Given the description of an element on the screen output the (x, y) to click on. 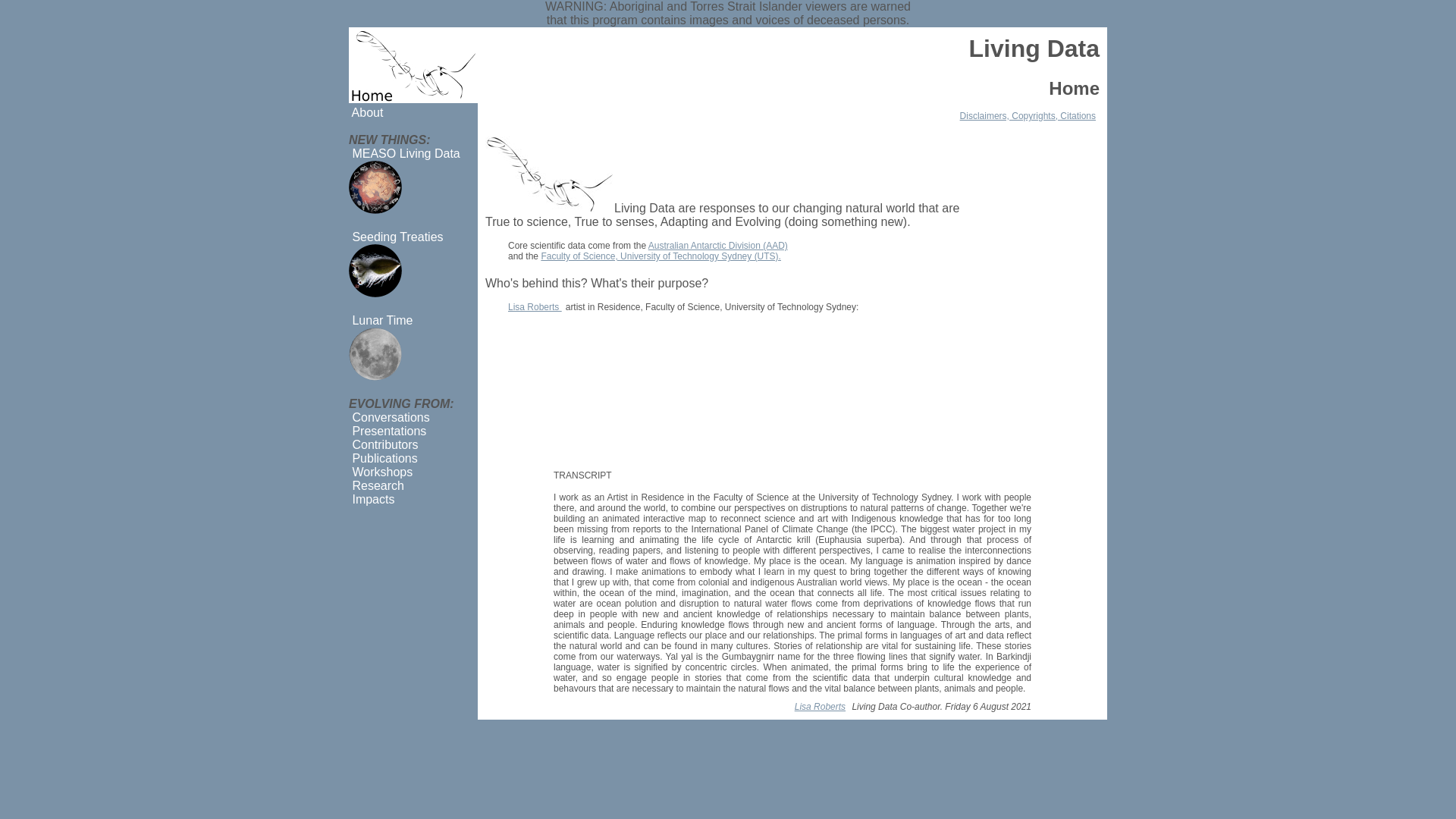
Seeding Treaties Element type: hover (374, 270)
 Seeding Treaties Element type: text (395, 236)
Faculty of Science, University of Technology Sydney (UTS). Element type: text (662, 256)
 MEASO Living Data Element type: text (404, 153)
 Conversations Element type: text (388, 417)
Lunar Time Element type: hover (374, 353)
Home Element type: hover (412, 65)
 Impacts Element type: text (371, 498)
 Contributors Element type: text (383, 444)
 Research Element type: text (376, 485)
 Presentations Element type: text (387, 430)
Disclaimers, Copyrights, Citations Element type: text (1029, 115)
MEASO Living Data Element type: hover (374, 186)
 About Element type: text (365, 112)
Lisa Roberts Element type: text (536, 306)
Lisa Roberts Element type: text (821, 706)
  Element type: text (374, 216)
 Lunar Time Element type: text (380, 319)
 Workshops Element type: text (380, 471)
Euphausia superba (Antarctic krill) Element type: hover (549, 174)
Australian Antarctic Division (AAD) Element type: text (719, 245)
 Publications Element type: text (382, 457)
